Given the description of an element on the screen output the (x, y) to click on. 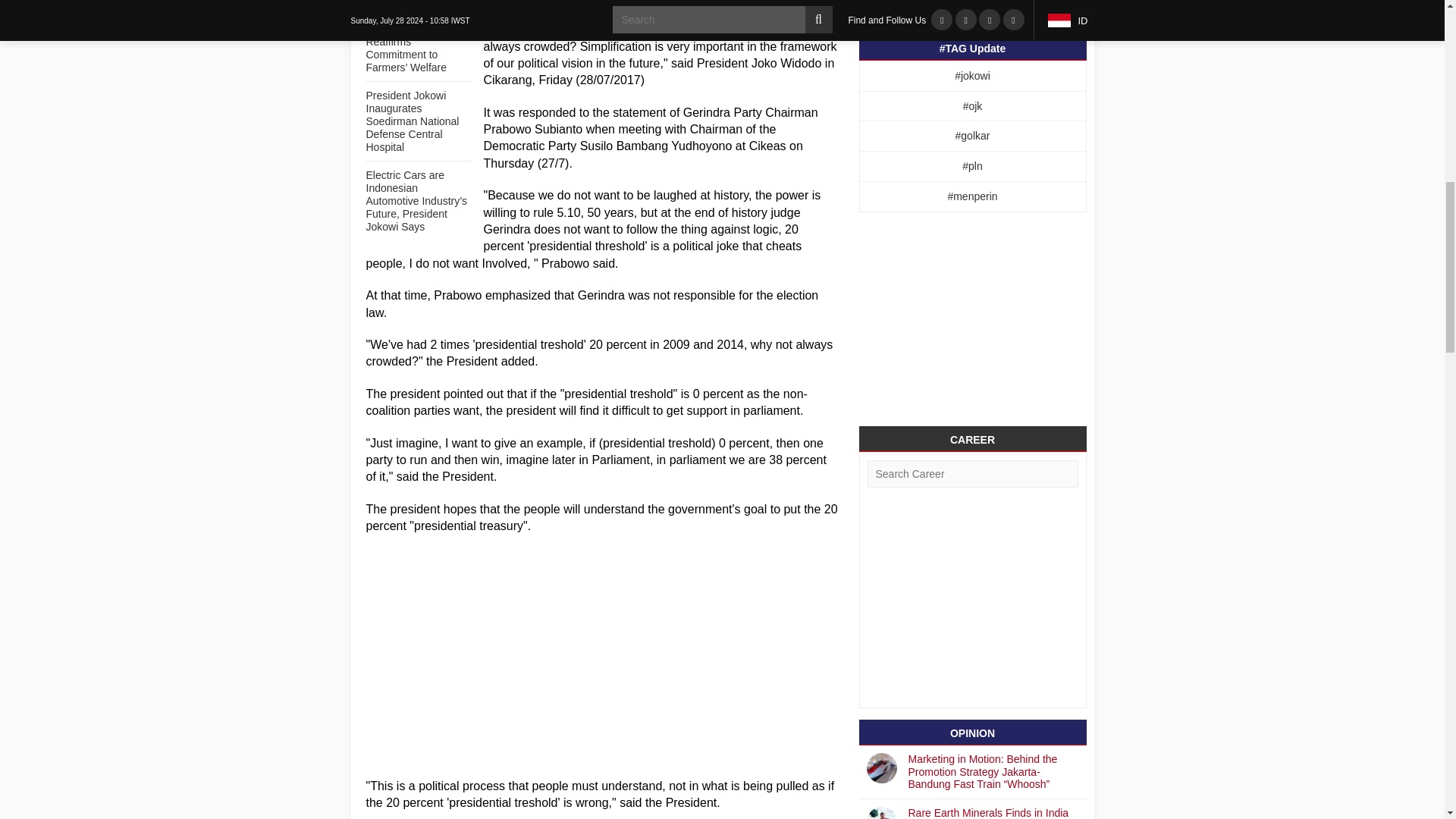
Advertisement (602, 684)
tambah Presiden.  (482, 360)
Presiden mencontohkan bahwa bila  (585, 401)
terlibat, (549, 263)
